Given the description of an element on the screen output the (x, y) to click on. 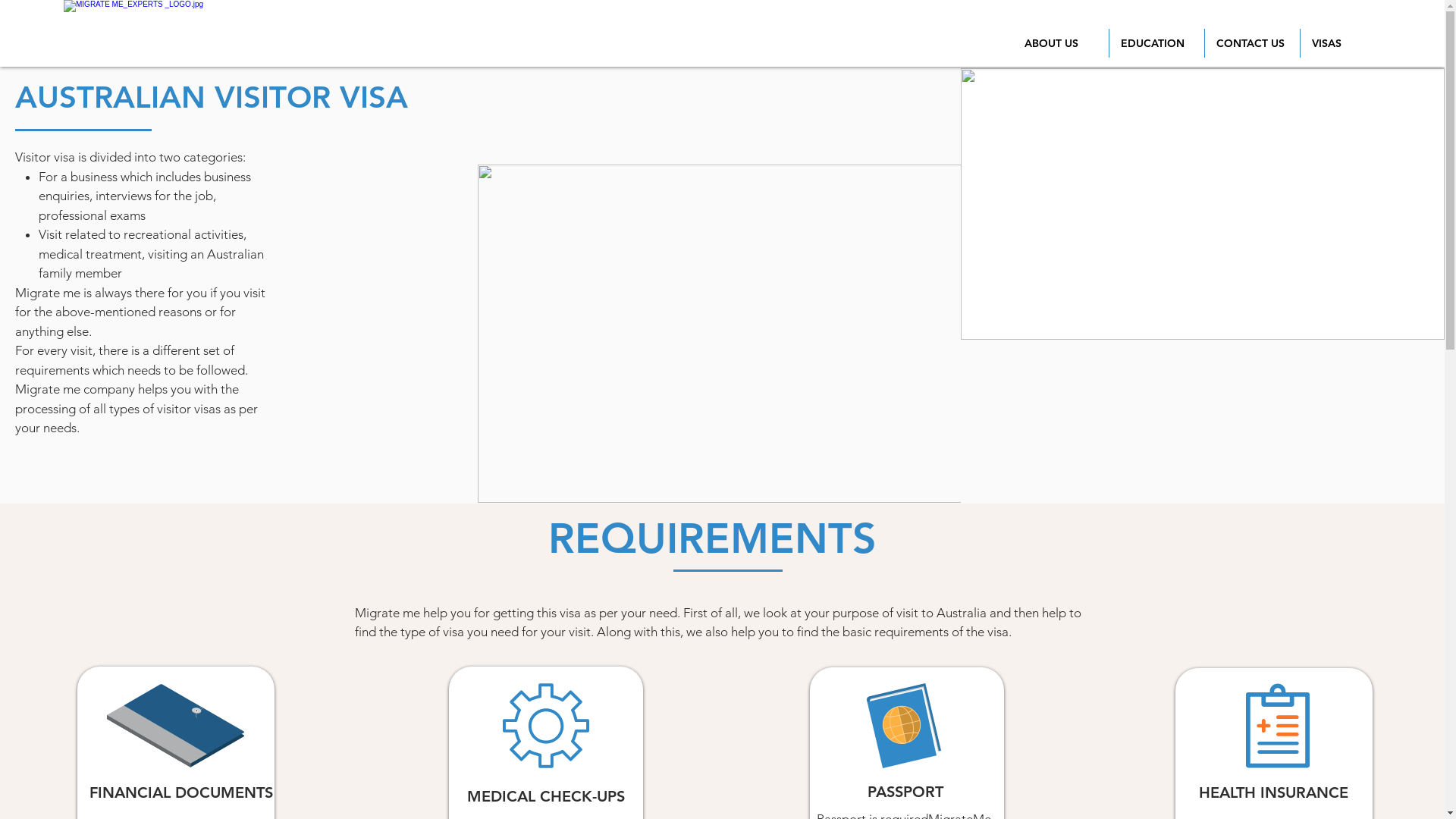
CONTACT US Element type: text (1251, 42)
EDUCATION Element type: text (1156, 42)
VISAS Element type: text (1347, 42)
ABOUT US Element type: text (1060, 42)
